Given the description of an element on the screen output the (x, y) to click on. 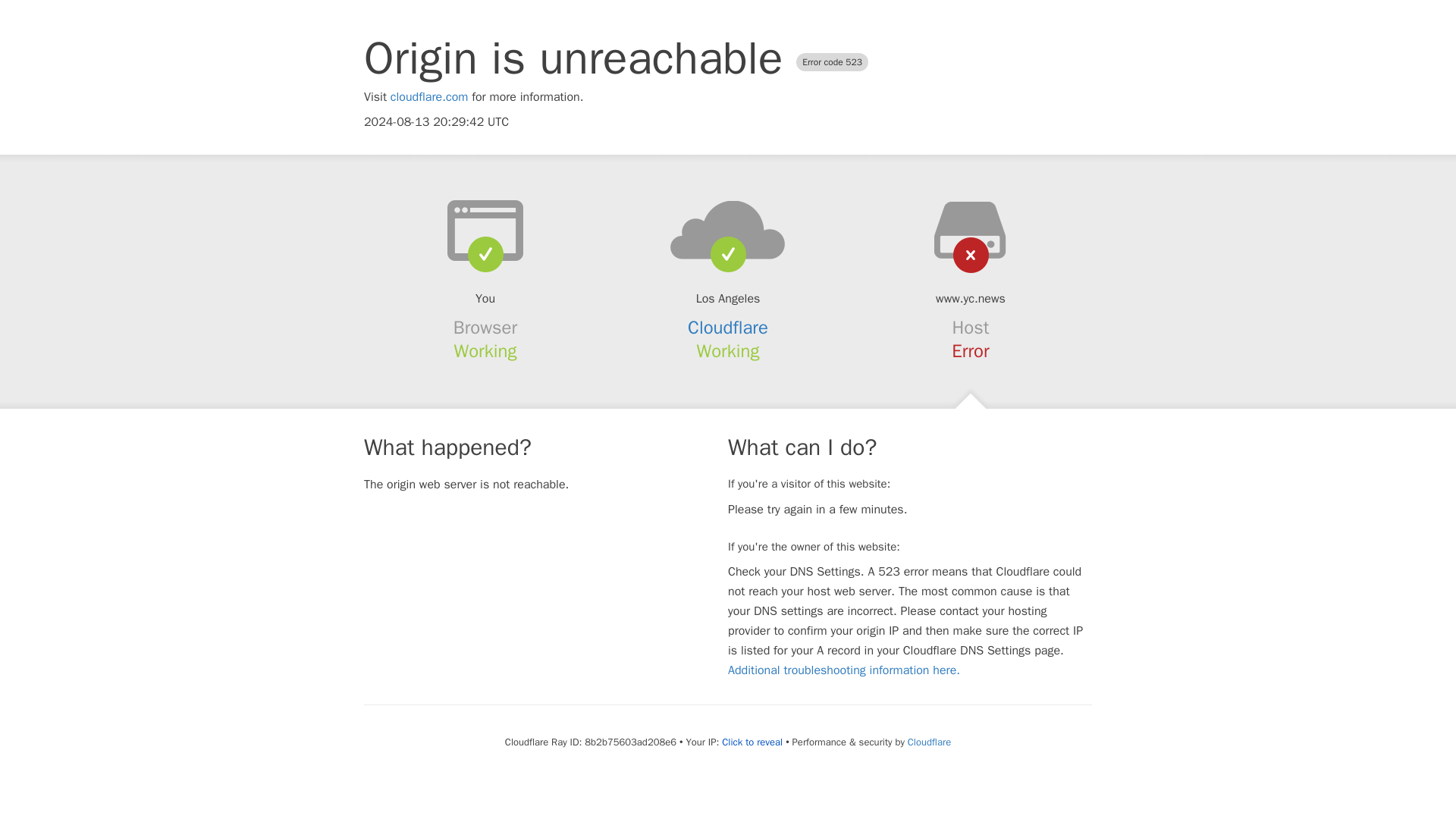
cloudflare.com (429, 96)
Click to reveal (752, 742)
Cloudflare (928, 741)
Additional troubleshooting information here. (843, 670)
Cloudflare (727, 327)
